Given the description of an element on the screen output the (x, y) to click on. 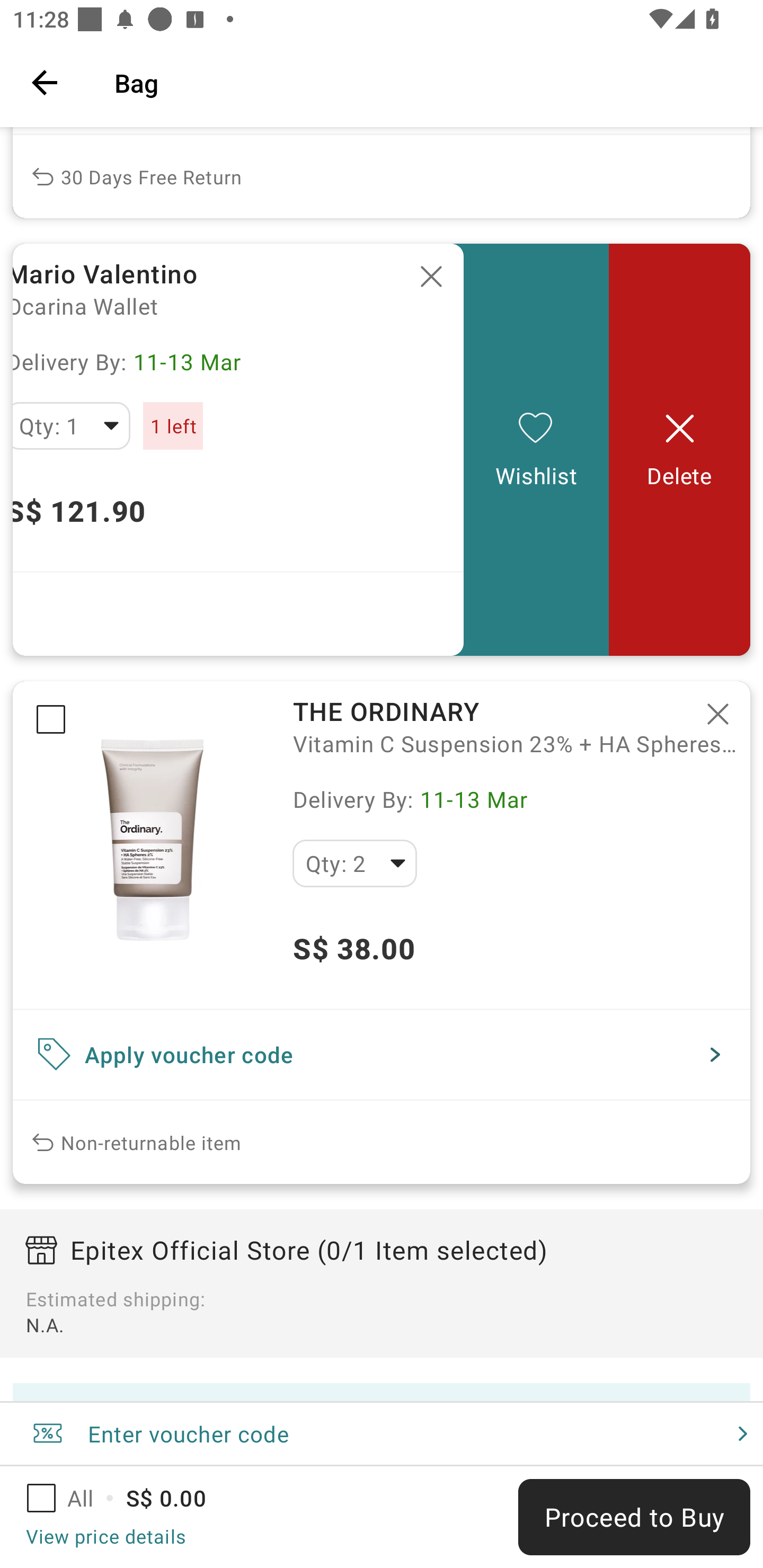
Navigate up (44, 82)
Bag (426, 82)
Apply voucher code 30 Days Free Return (381, 172)
Wishlist (535, 449)
Qty: 1 (71, 425)
Qty: 2 (354, 862)
Apply voucher code (381, 1054)
Enter voucher code (381, 1433)
All (72, 1497)
Proceed to Buy (634, 1516)
View price details (105, 1535)
